Given the description of an element on the screen output the (x, y) to click on. 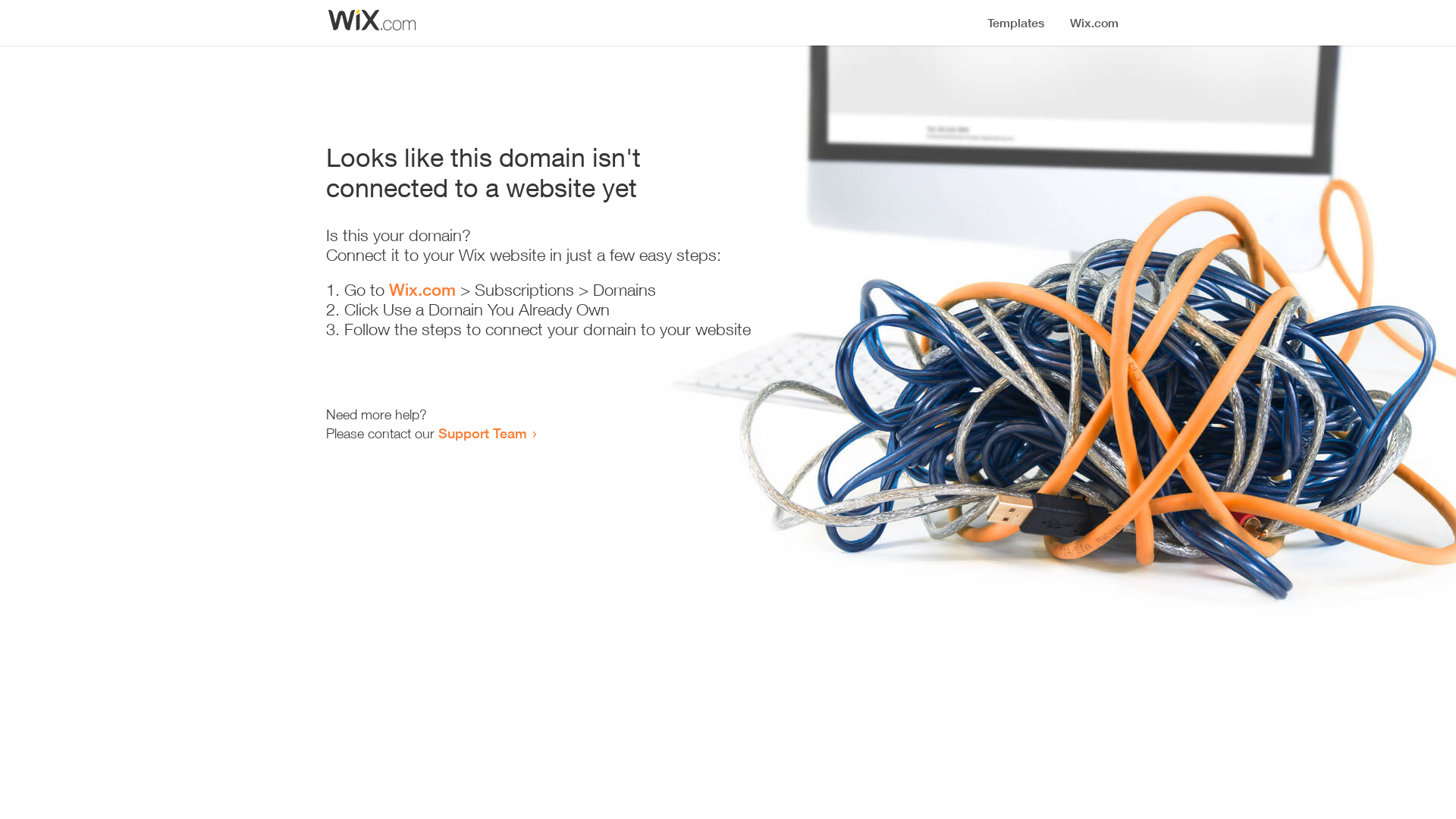
Wix.com Element type: text (422, 289)
Support Team Element type: text (482, 432)
